Given the description of an element on the screen output the (x, y) to click on. 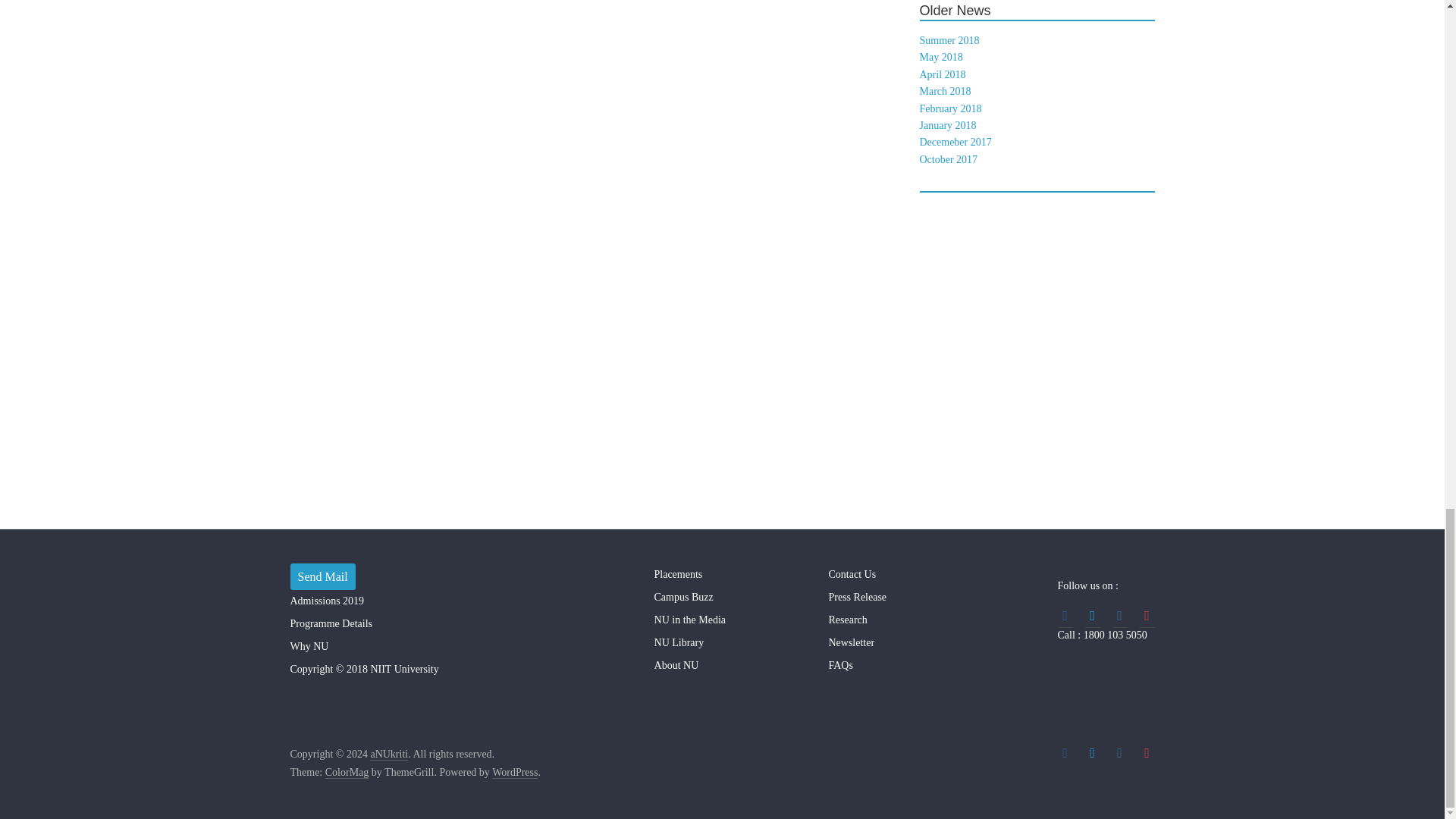
WordPress (514, 772)
ColorMag (346, 772)
aNUkriti (388, 754)
